Given the description of an element on the screen output the (x, y) to click on. 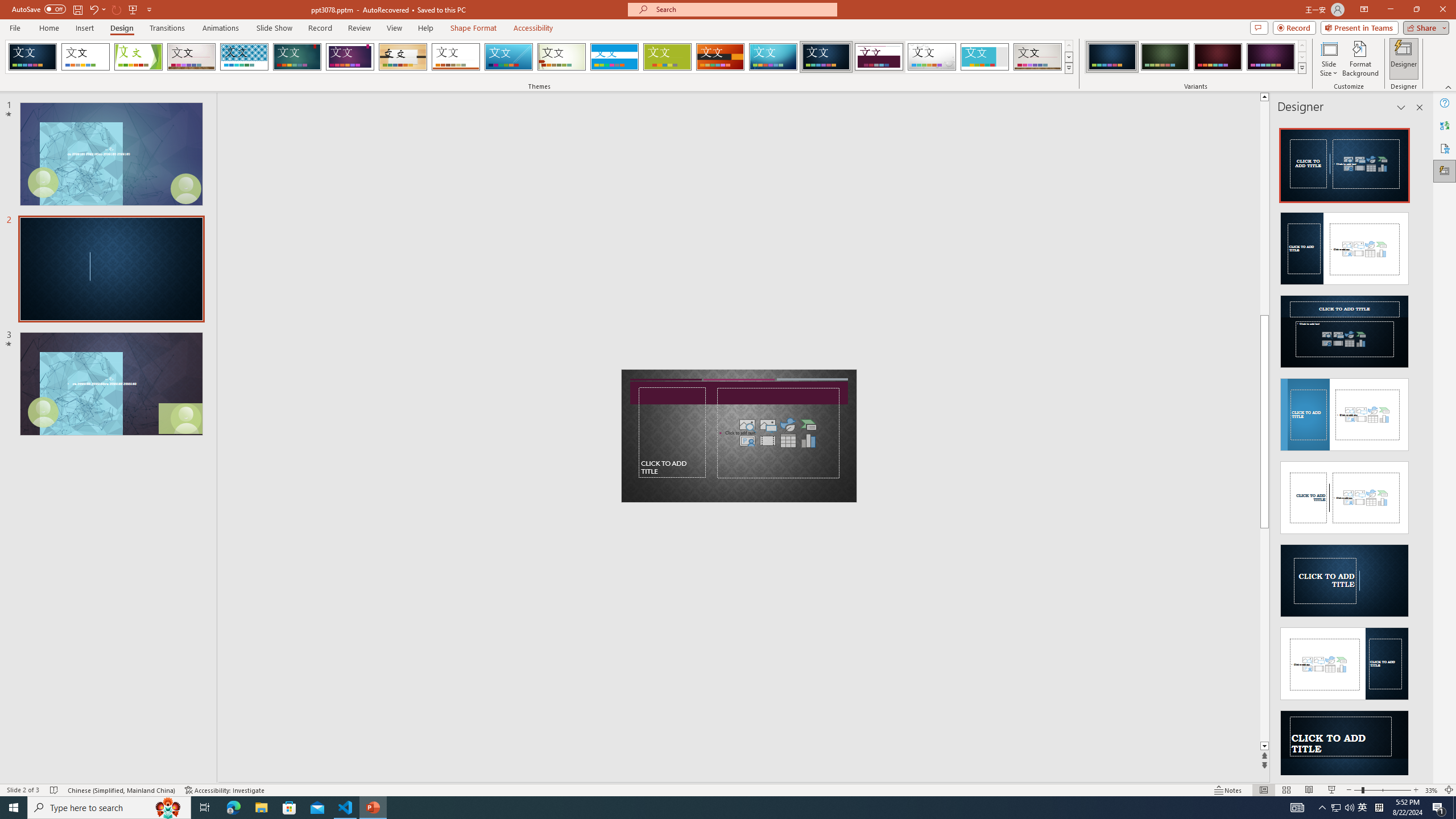
Dividend (879, 56)
Quick Access Toolbar (82, 9)
Slice (508, 56)
Insert Video (767, 440)
Save (77, 9)
More Options (103, 9)
Page down (1264, 634)
Title TextBox (672, 432)
View (395, 28)
Insert Table (787, 440)
Facet (138, 56)
Insert an Icon (787, 424)
Wisp (561, 56)
Slide Size (1328, 58)
